Given the description of an element on the screen output the (x, y) to click on. 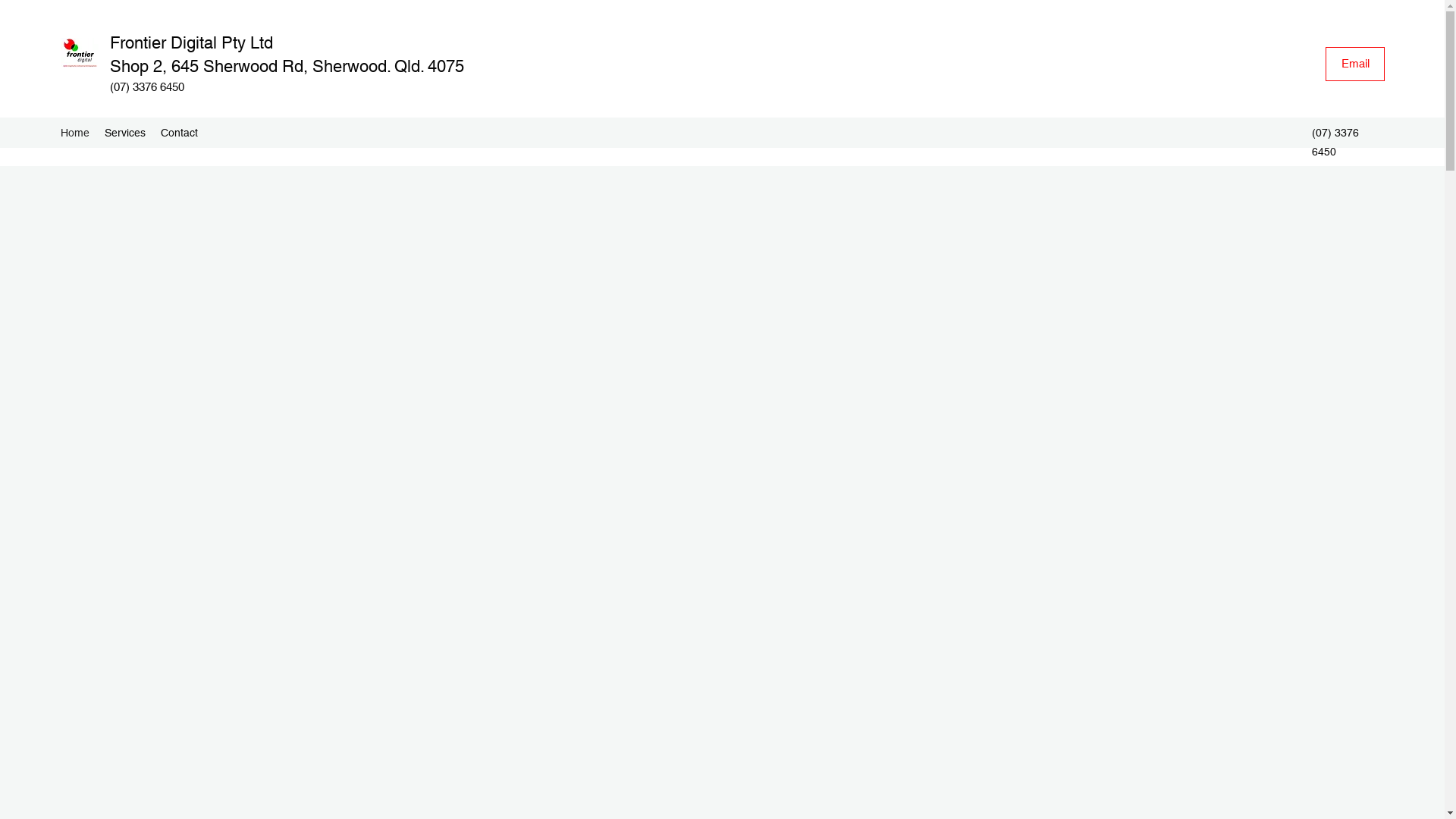
Frontier Digital Pty Ltd Element type: text (191, 42)
Email Element type: text (1354, 64)
Contact Element type: text (179, 132)
Home Element type: text (75, 132)
Services Element type: text (125, 132)
